Given the description of an element on the screen output the (x, y) to click on. 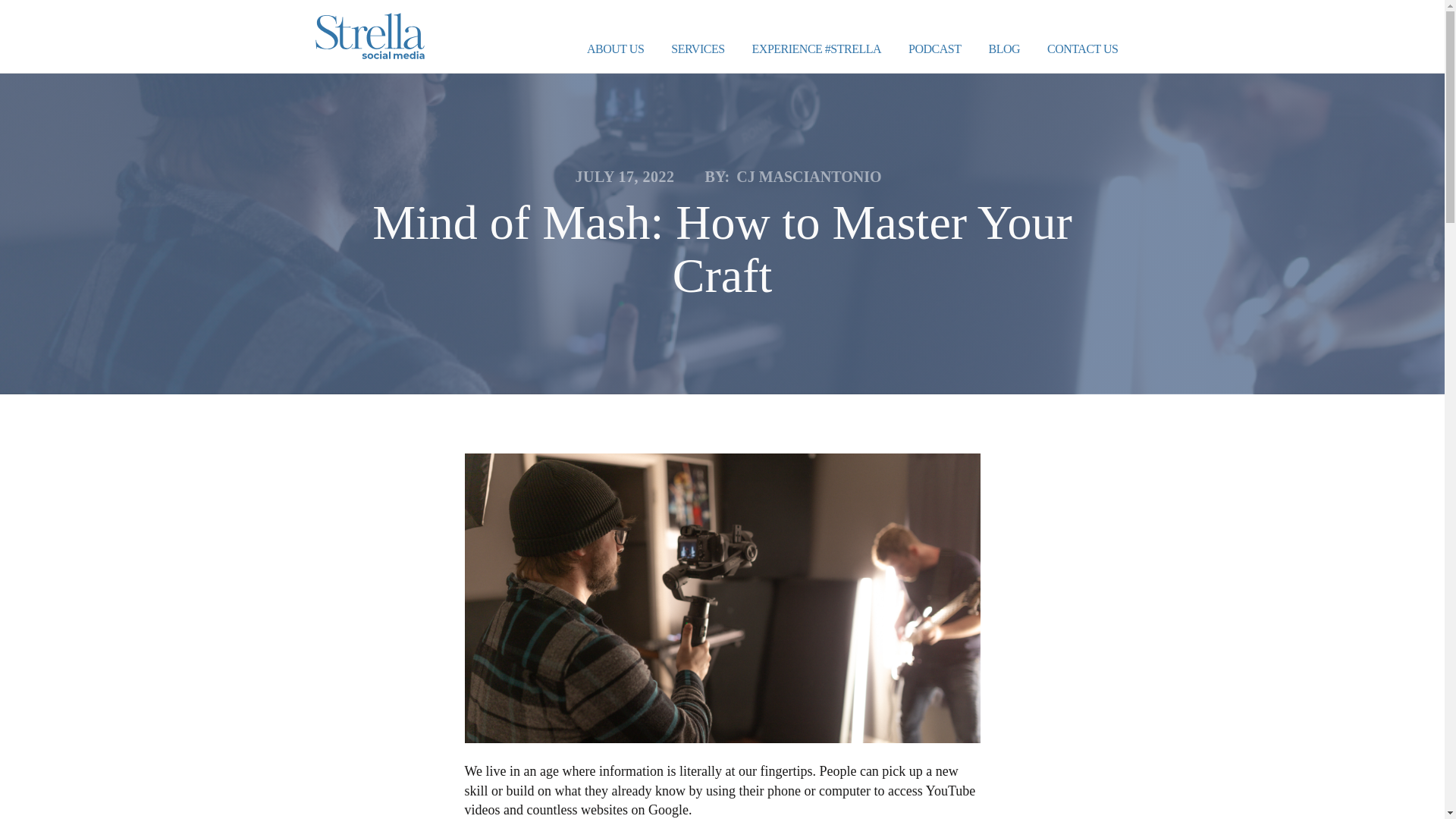
BLOG (1004, 49)
ABOUT US (615, 49)
SERVICES (698, 49)
CONTACT US (1082, 49)
PODCAST (934, 49)
